Given the description of an element on the screen output the (x, y) to click on. 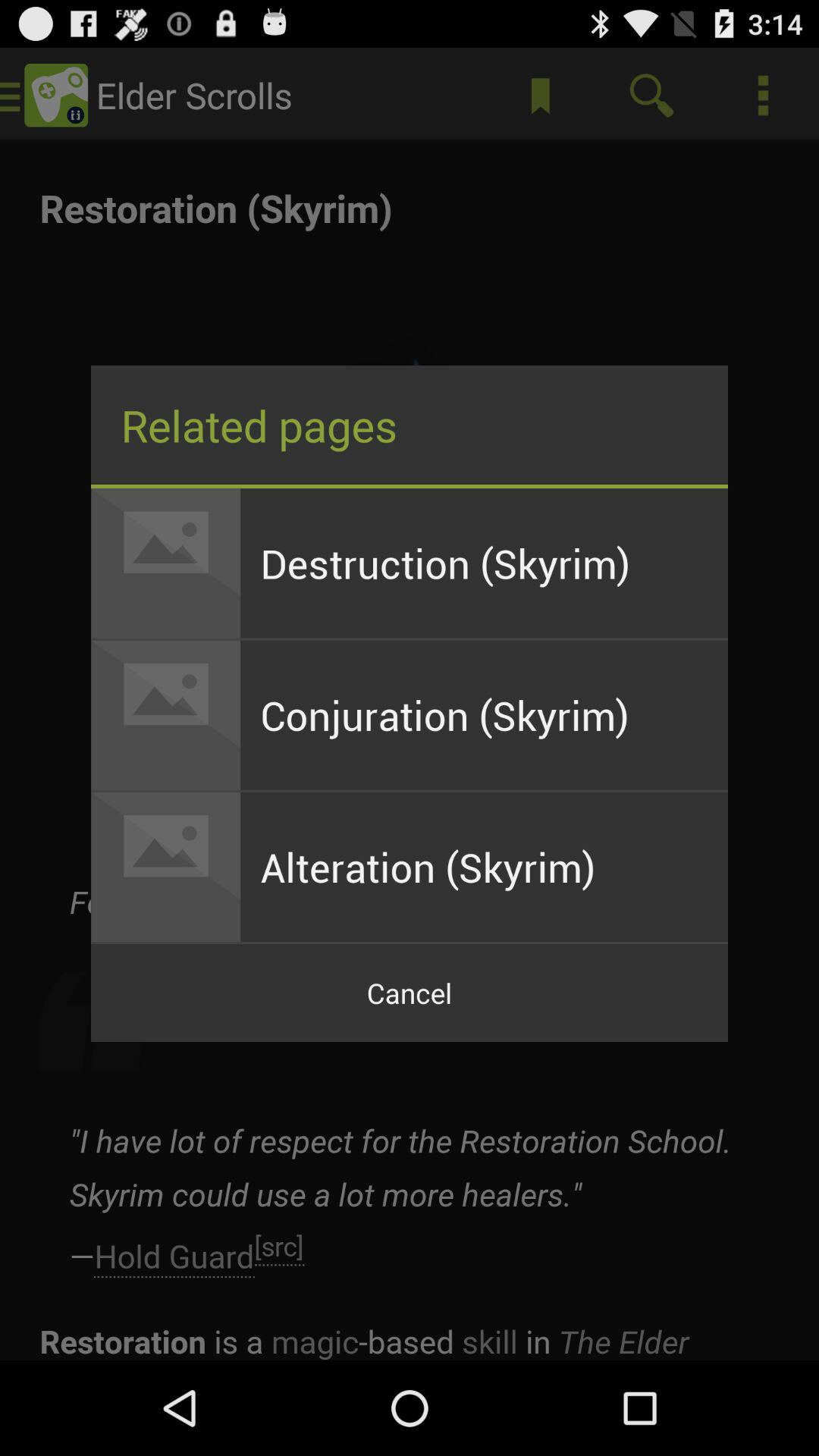
select the alteration (skyrim) app (484, 866)
